Given the description of an element on the screen output the (x, y) to click on. 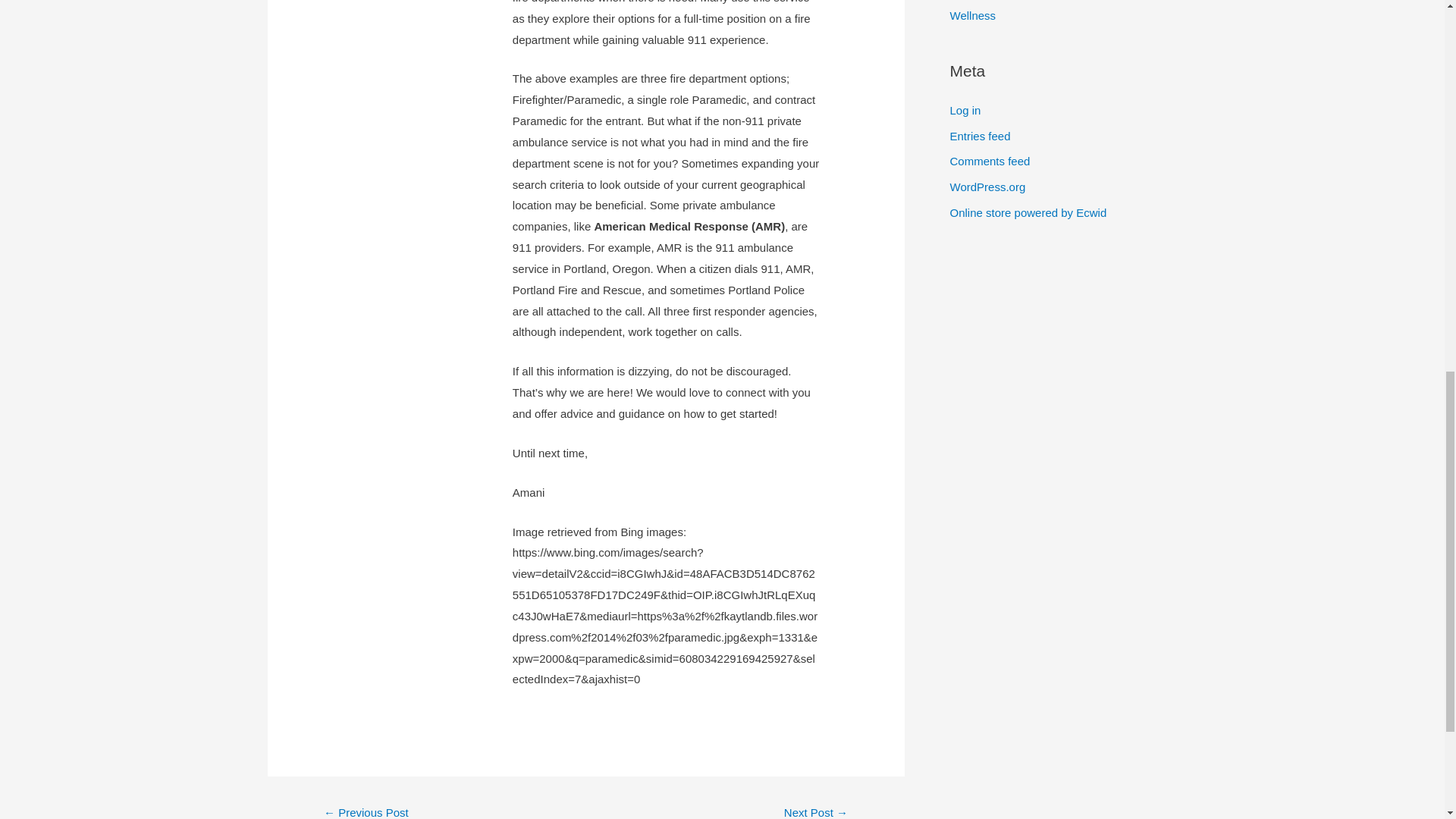
Dressing for an Interview (365, 809)
Wellness (972, 15)
Entries feed (979, 135)
WordPress.org (987, 186)
Comments feed (989, 160)
Midwest Fire Jobs (815, 809)
Online store powered by Ecwid (1027, 212)
Log in (964, 110)
